Given the description of an element on the screen output the (x, y) to click on. 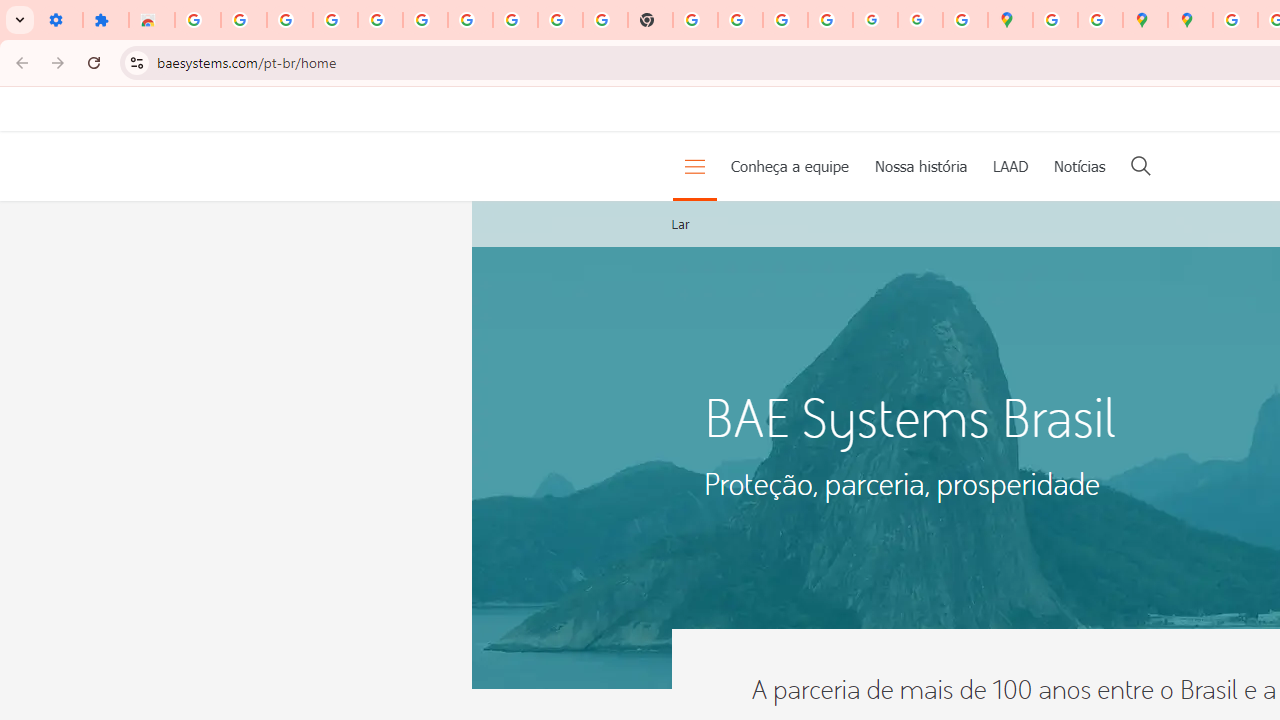
Reviews: Helix Fruit Jump Arcade Game (152, 20)
Sign in - Google Accounts (425, 20)
https://scholar.google.com/ (695, 20)
